Given the description of an element on the screen output the (x, y) to click on. 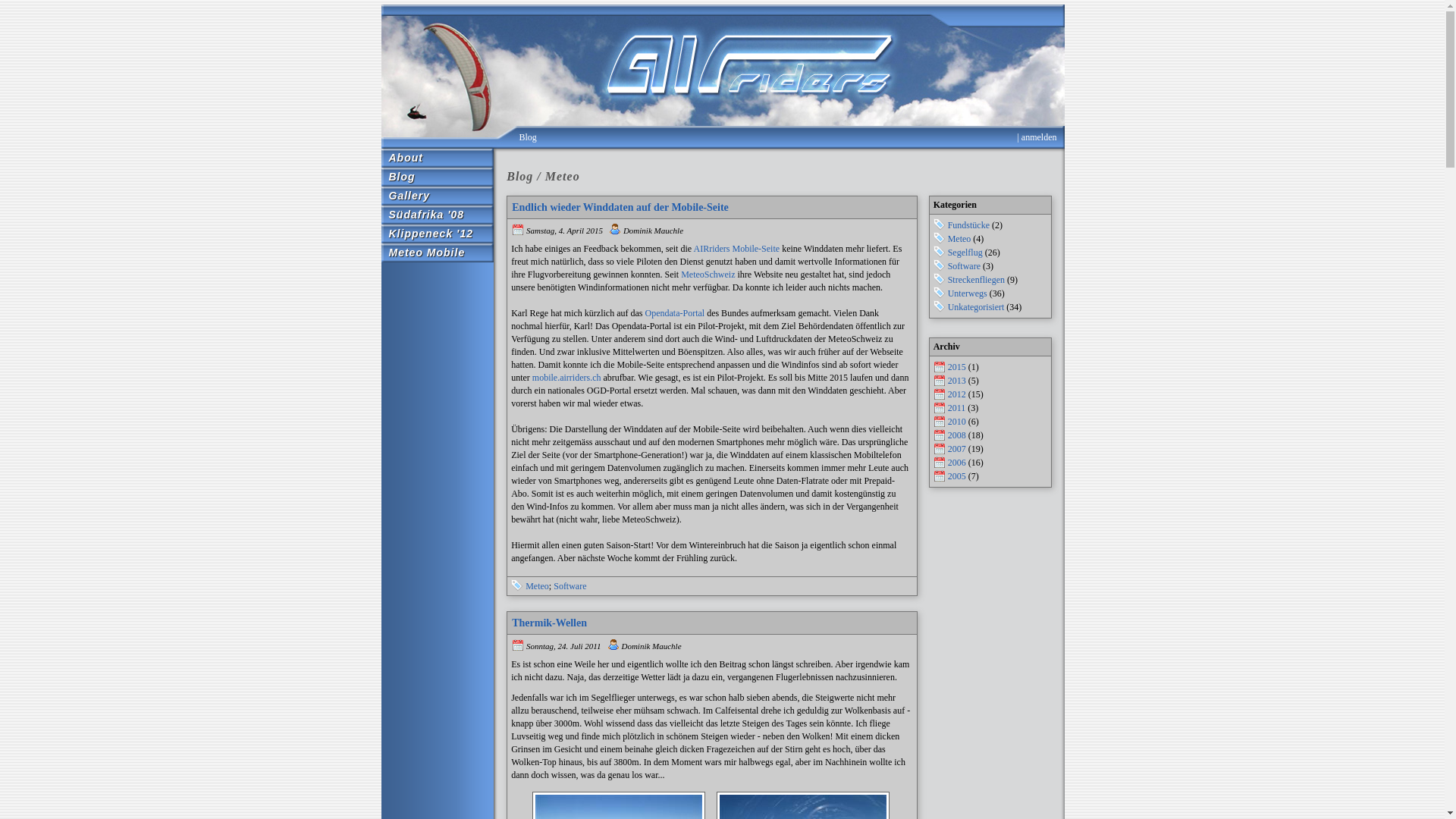
Meteo Element type: text (537, 585)
Unkategorisiert Element type: text (975, 306)
2010 Element type: text (956, 421)
Gallery Element type: text (436, 194)
anmelden Element type: text (1039, 136)
Unterwegs Element type: text (967, 293)
Streckenfliegen Element type: text (975, 279)
2011 Element type: text (956, 407)
Klippeneck '12 Element type: text (436, 232)
mobile.airriders.ch Element type: text (566, 377)
Endlich wieder Winddaten auf der Mobile-Seite Element type: text (619, 207)
2005 Element type: text (956, 475)
Blog Element type: text (436, 175)
Segelflug Element type: text (964, 252)
Meteo Element type: text (959, 238)
Opendata-Portal Element type: text (674, 312)
2008 Element type: text (956, 434)
Blog Element type: text (527, 136)
2012 Element type: text (956, 394)
2013 Element type: text (956, 380)
Thermik-Wellen Element type: text (548, 622)
Software Element type: text (963, 265)
MeteoSchweiz Element type: text (707, 274)
About Element type: text (436, 156)
2007 Element type: text (956, 448)
2006 Element type: text (956, 462)
AIRriders Mobile-Seite Element type: text (736, 248)
2015 Element type: text (956, 366)
Software Element type: text (569, 585)
Meteo Mobile Element type: text (436, 251)
